Given the description of an element on the screen output the (x, y) to click on. 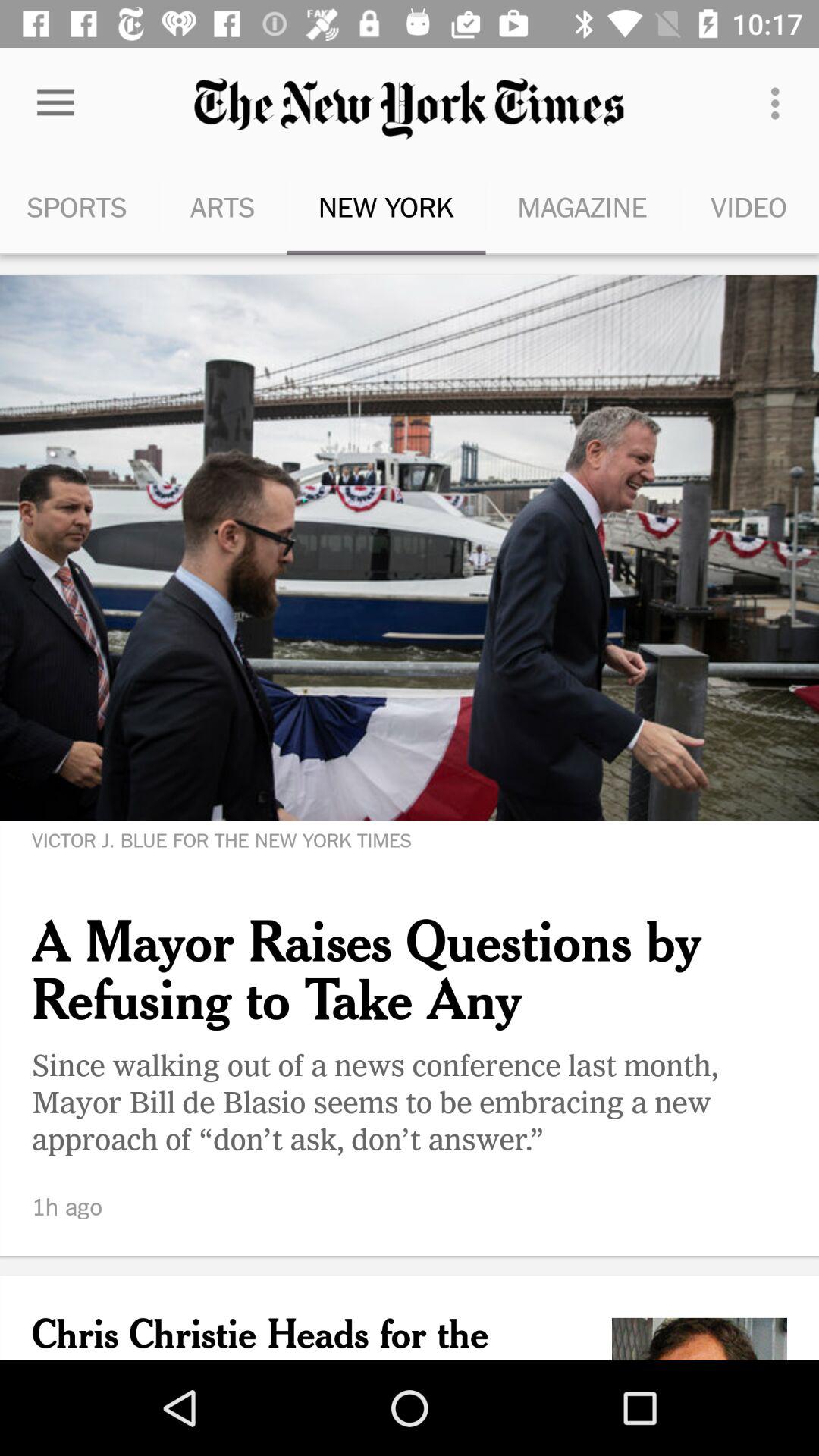
turn on item to the left of the arts (55, 103)
